Given the description of an element on the screen output the (x, y) to click on. 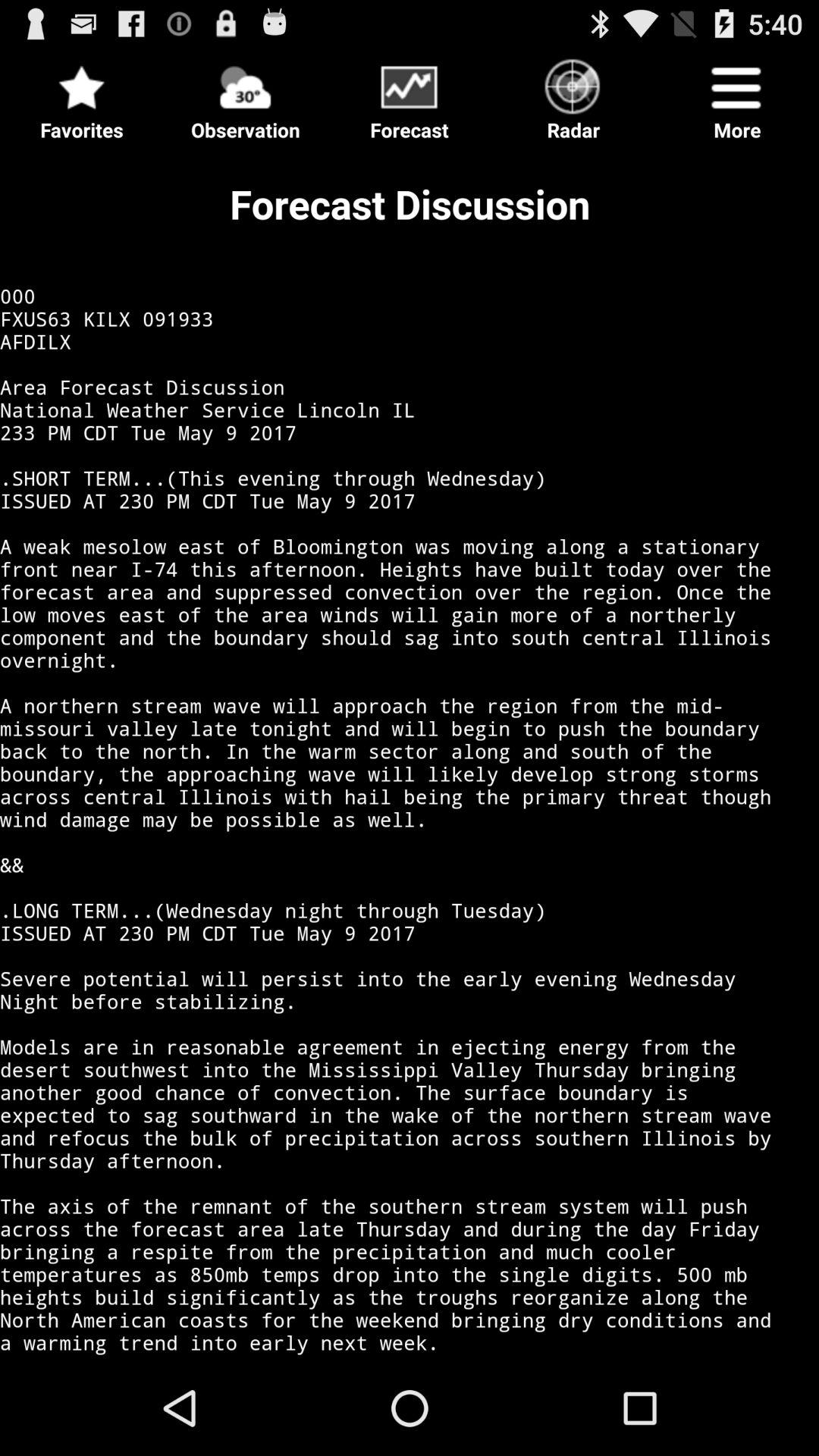
click icon to the left of the more item (573, 95)
